Given the description of an element on the screen output the (x, y) to click on. 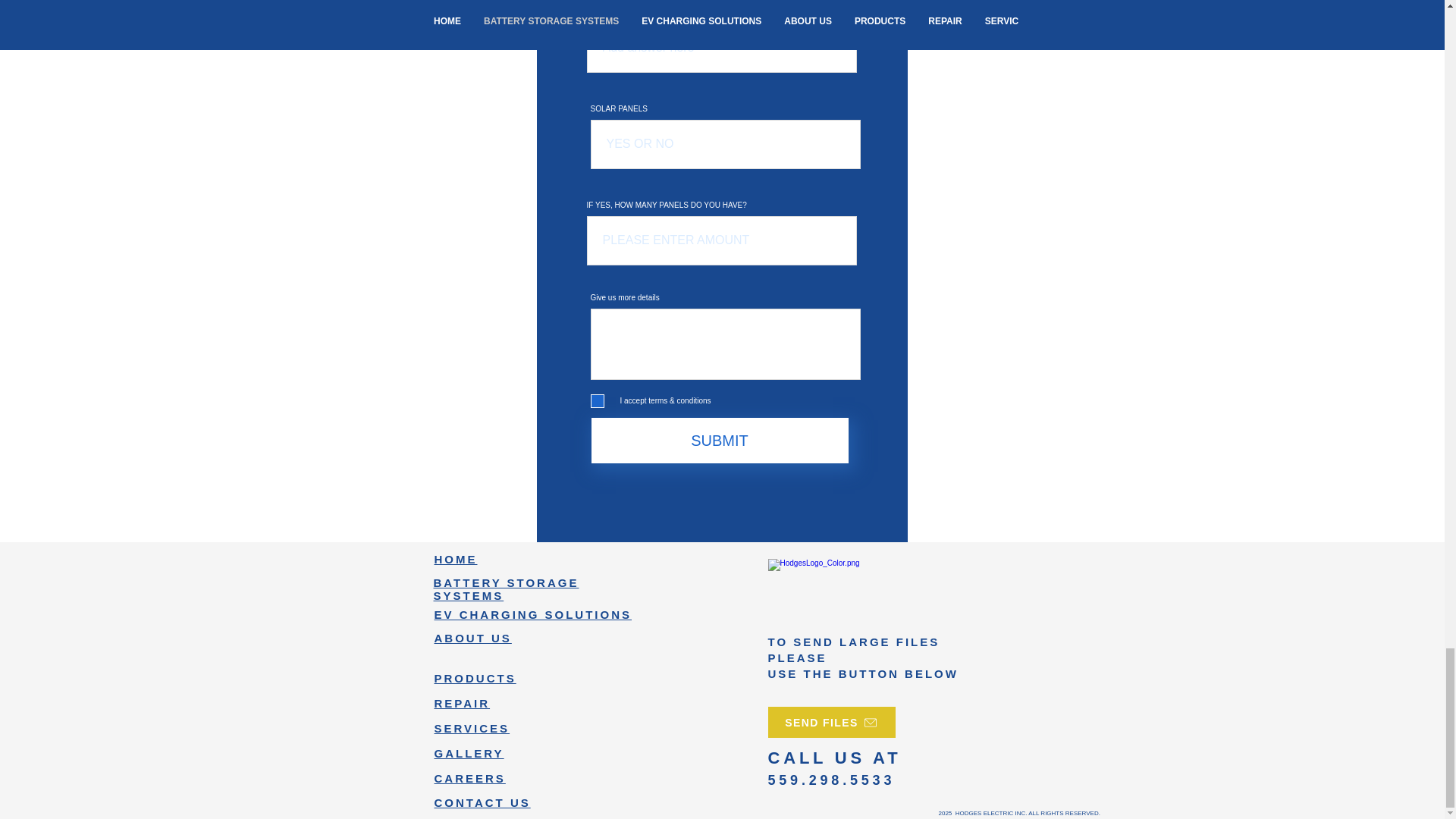
CONTACT US (481, 802)
SEND FILES (831, 721)
HOME (455, 558)
CAREERS (469, 778)
EV CHARGING SOLUTIONS (532, 614)
SUBMIT (719, 440)
PRODUCTS (474, 677)
ABOUT US (472, 637)
SERVICES (471, 727)
BATTERY STORAGE SYSTEMS (506, 588)
